Given the description of an element on the screen output the (x, y) to click on. 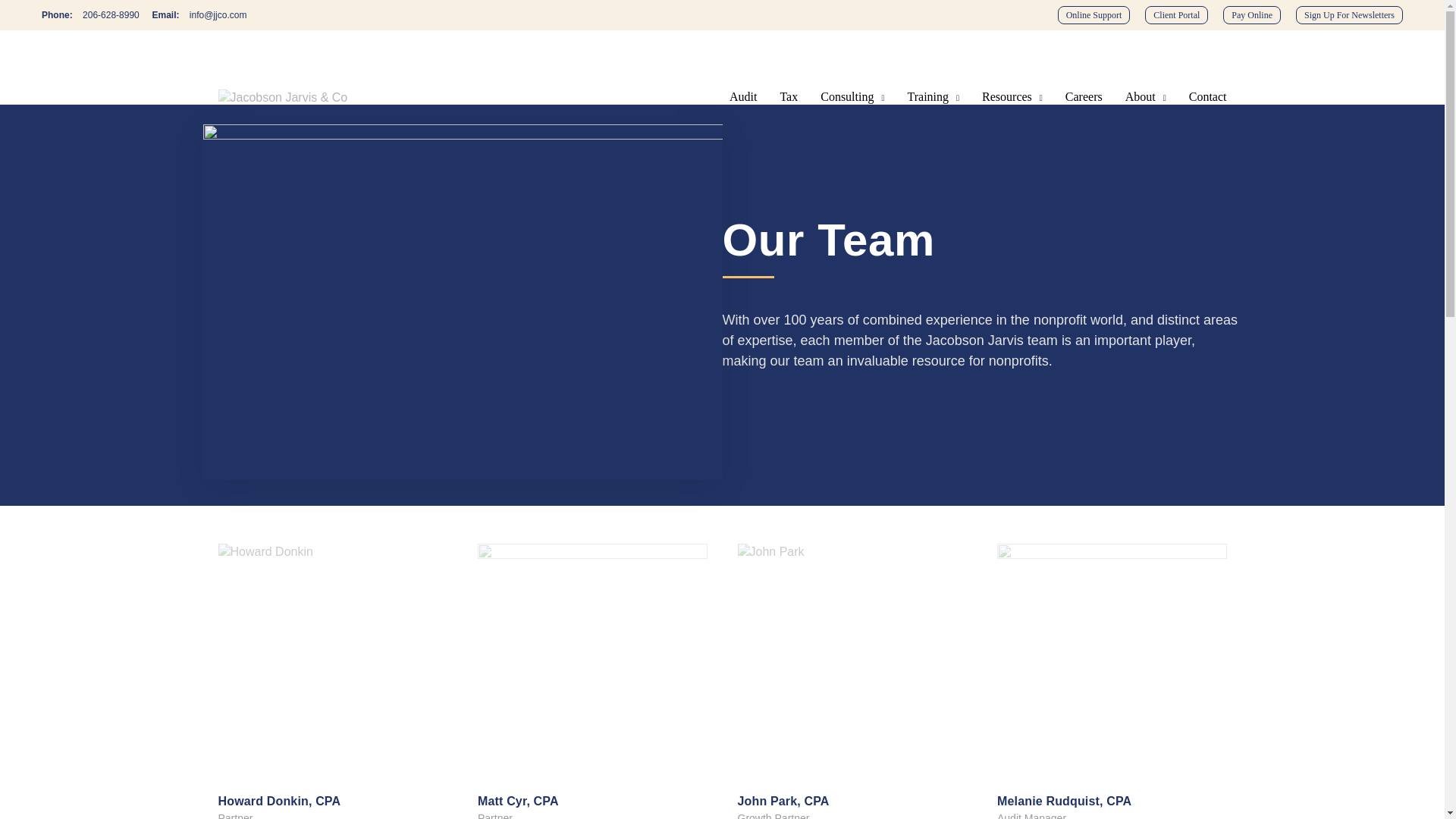
Pay Online (1252, 14)
matt (592, 658)
Sign Up For Newsletters (1349, 14)
Consulting (852, 96)
About (1145, 96)
howard-donkin (333, 658)
Training (933, 96)
Online Support (1094, 14)
206-628-8990 (111, 14)
